Given the description of an element on the screen output the (x, y) to click on. 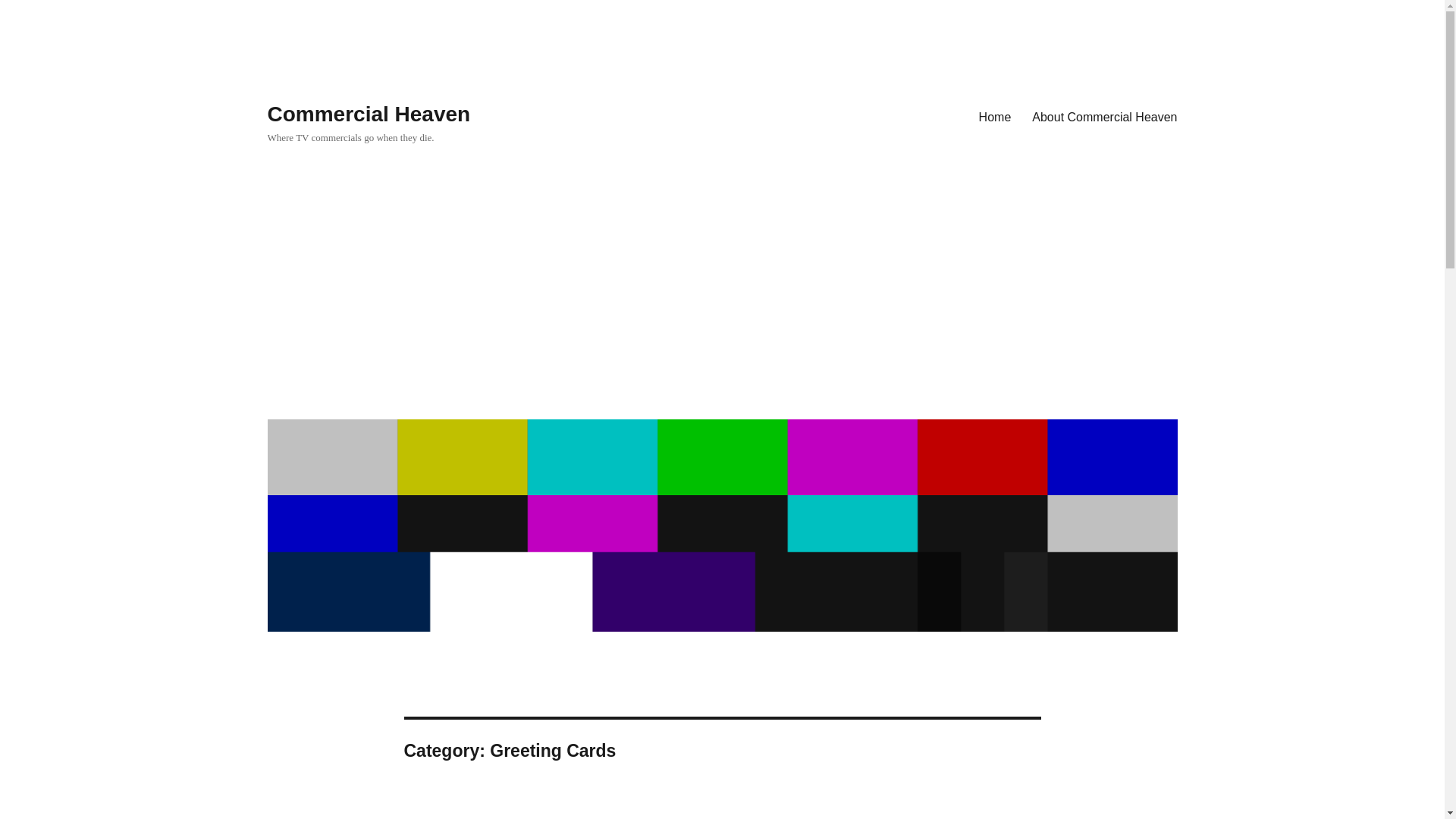
Home (995, 116)
About Commercial Heaven (1105, 116)
Commercial Heaven (368, 114)
Hallmark Vegan Christmas (594, 812)
